Given the description of an element on the screen output the (x, y) to click on. 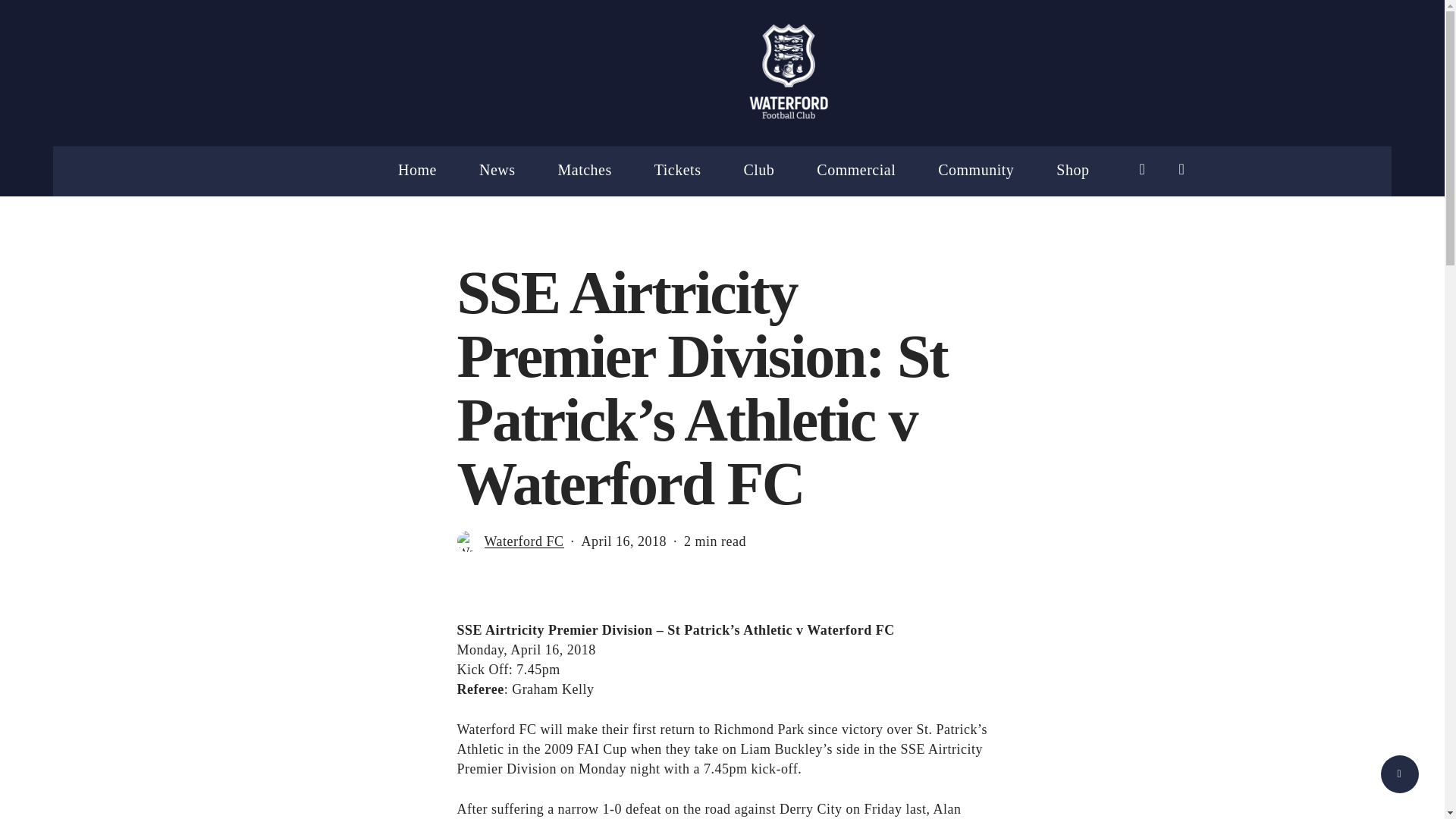
Home (416, 169)
Tickets (677, 169)
Posts by Waterford FC (523, 540)
Club (758, 169)
Community (975, 169)
Matches (584, 169)
Shop (1073, 169)
Commercial (855, 169)
account (1181, 169)
News (497, 169)
